Given the description of an element on the screen output the (x, y) to click on. 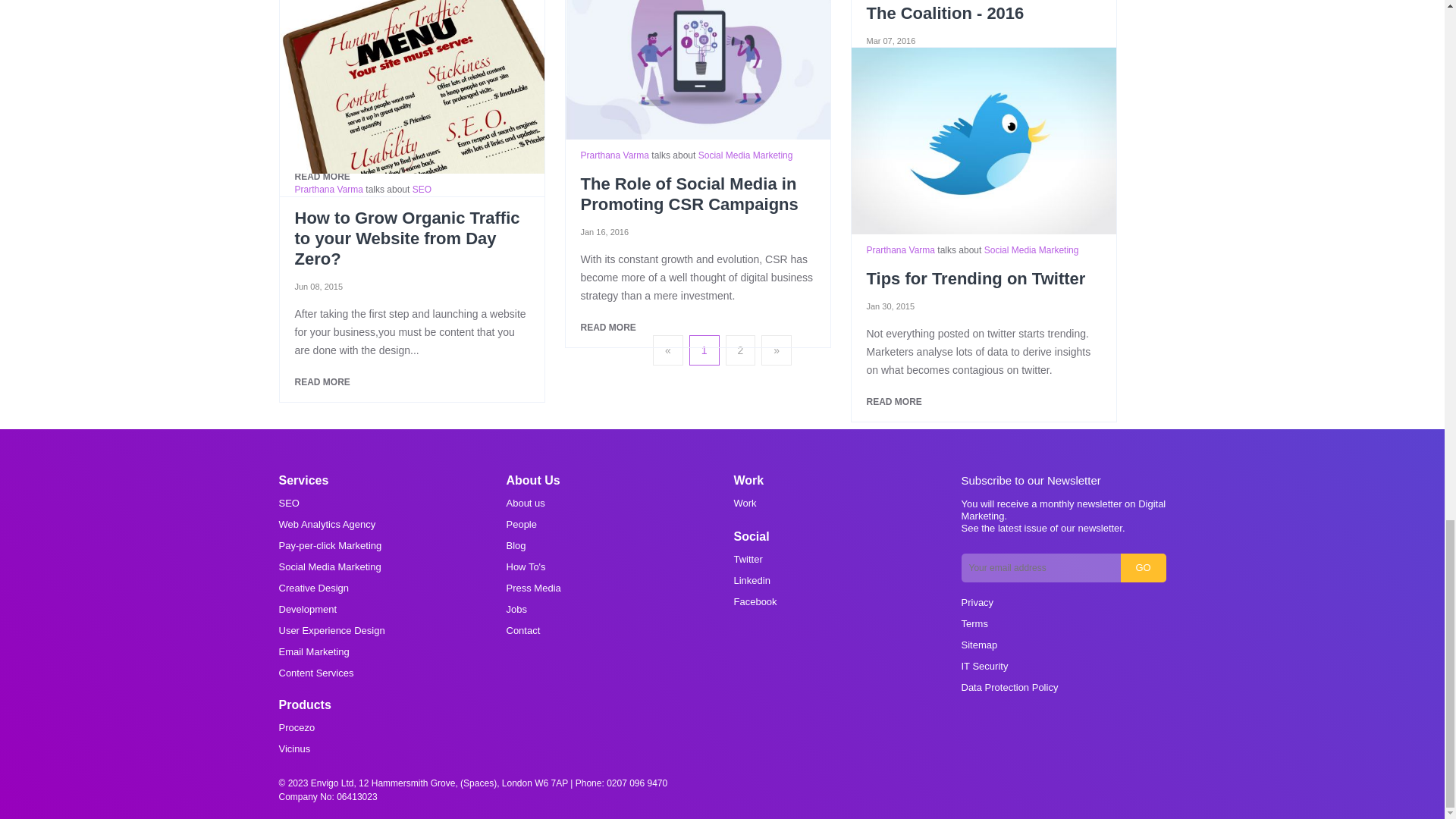
GO (1143, 567)
Tips for Trending on Twitter (982, 140)
The Role of Social Media in Promoting CSR Campaigns (697, 69)
How to Grow Organic Traffic to your Website from Day Zero? (411, 86)
